Given the description of an element on the screen output the (x, y) to click on. 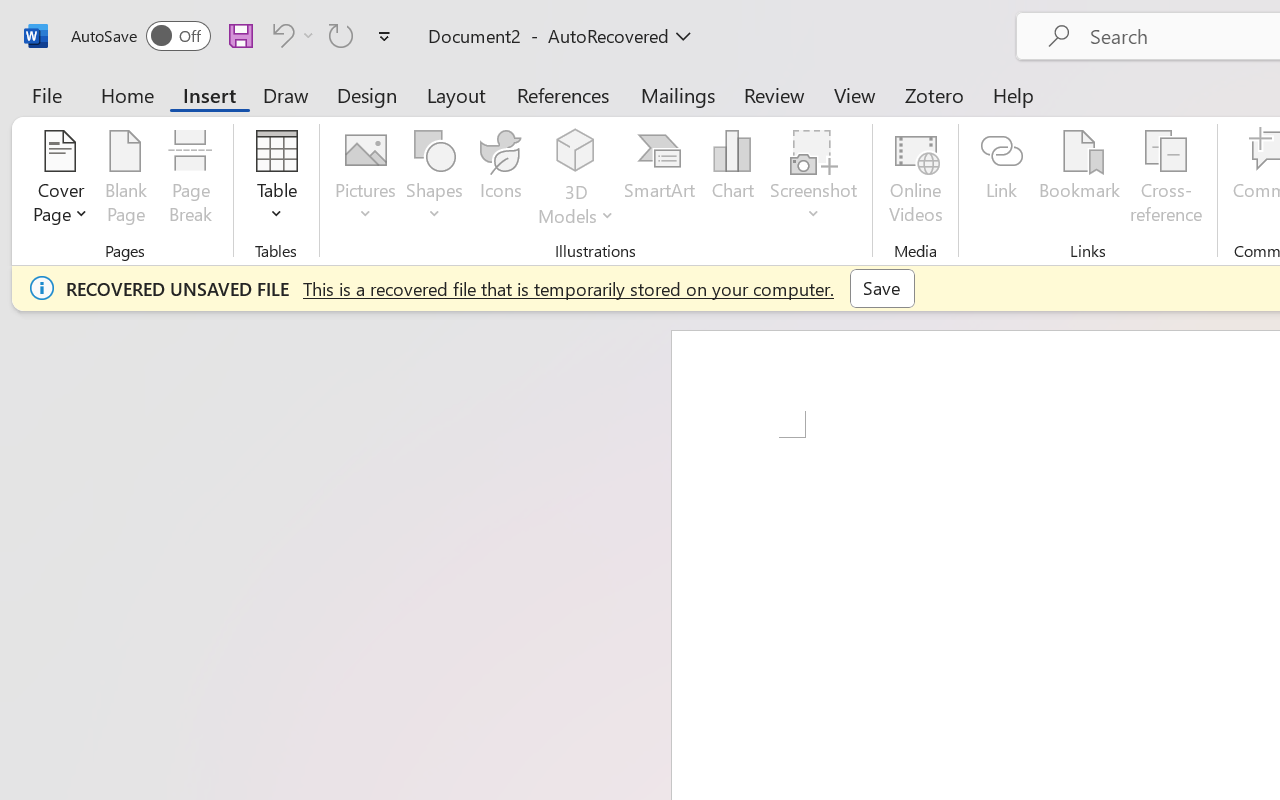
SmartArt... (659, 179)
Can't Undo (280, 35)
Page Break (190, 179)
Help (1013, 94)
Blank Page (125, 179)
Table (276, 179)
